Given the description of an element on the screen output the (x, y) to click on. 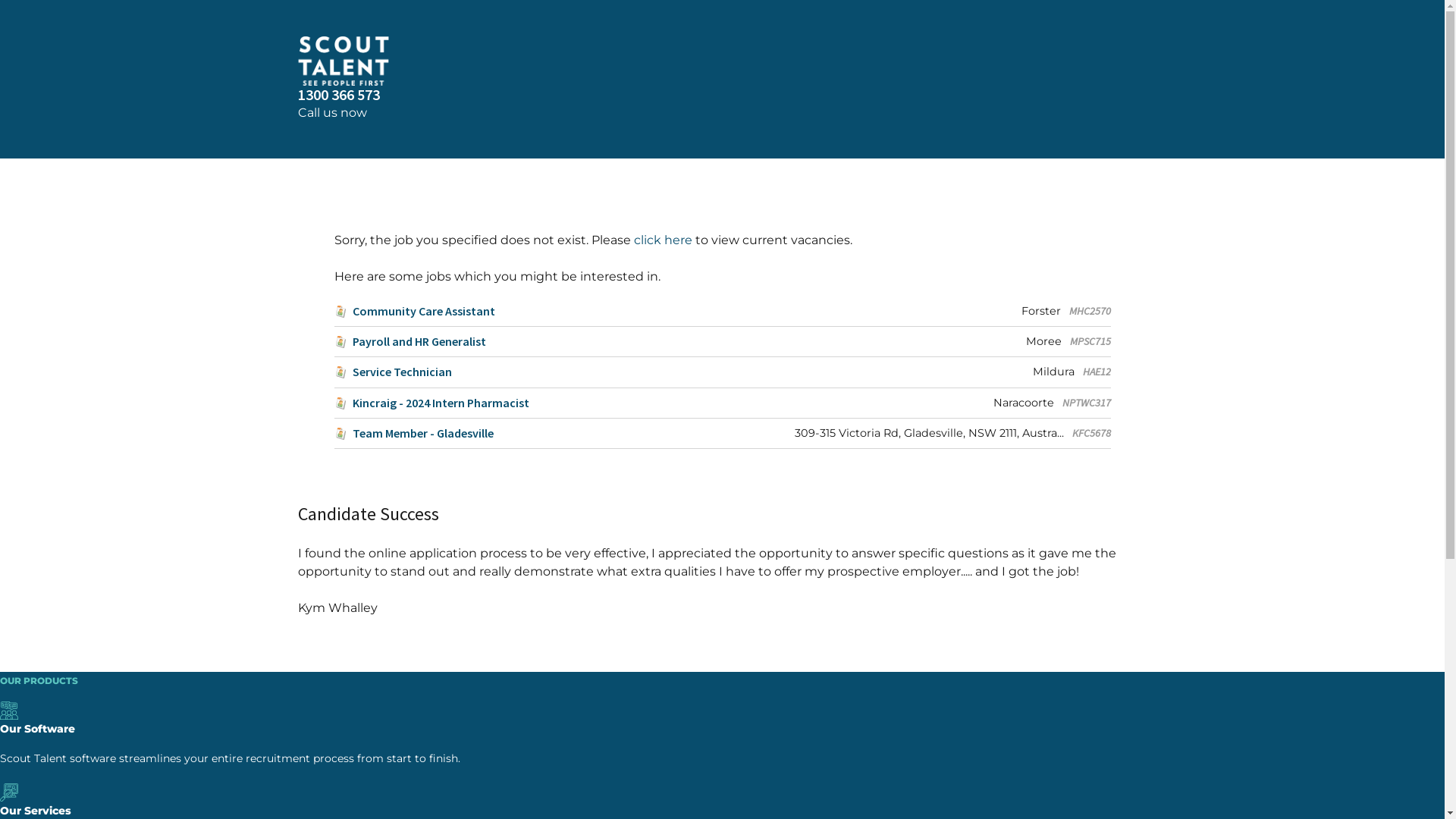
Community Care Assistant Element type: text (413, 311)
Team Member - Gladesville Element type: text (412, 433)
click here Element type: text (662, 239)
Scout Talent Element type: hover (721, 60)
Service Technician Element type: text (392, 371)
Payroll and HR Generalist Element type: text (409, 341)
Kincraig - 2024 Intern Pharmacist Element type: text (430, 402)
